Given the description of an element on the screen output the (x, y) to click on. 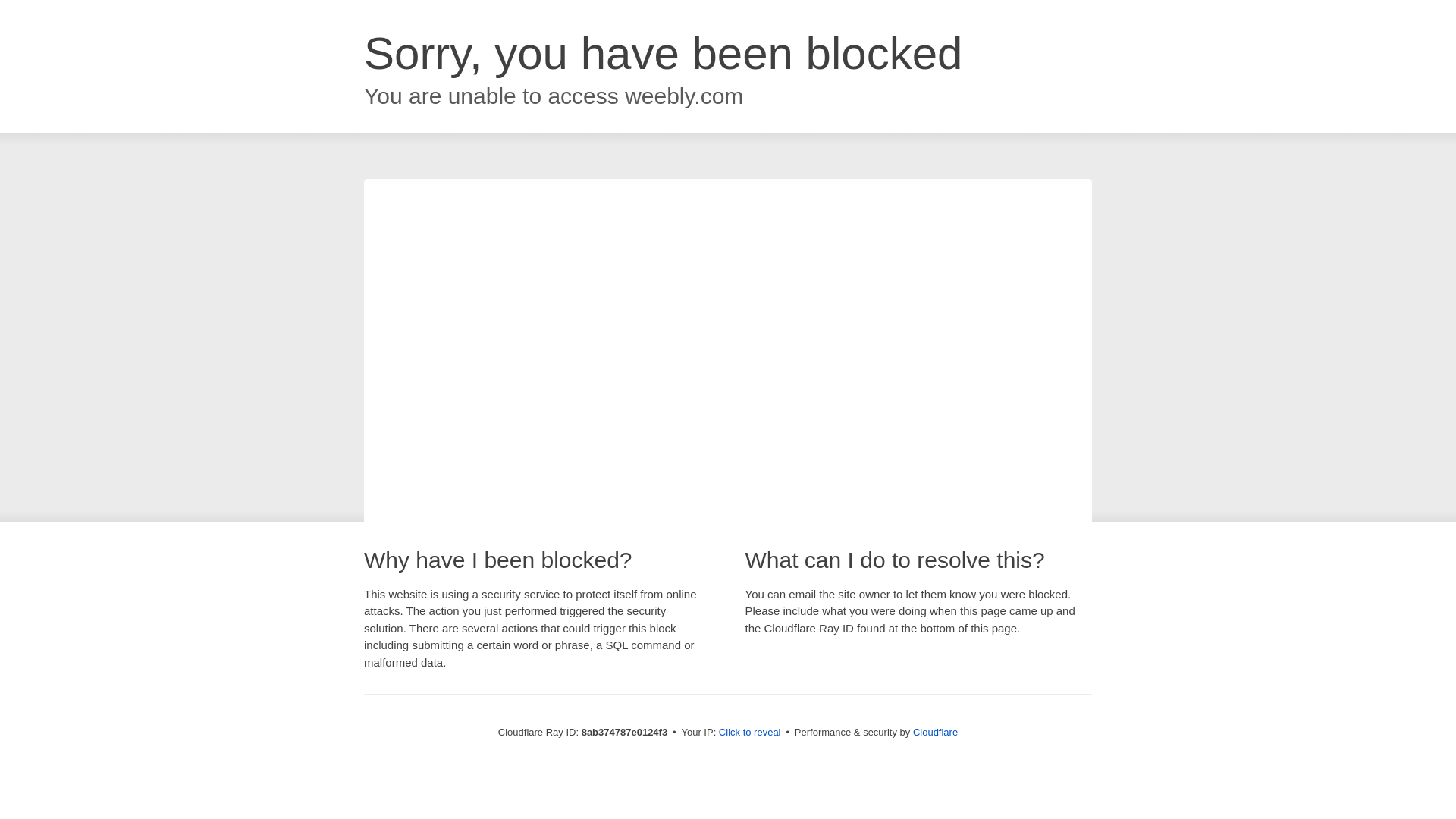
Cloudflare (935, 731)
Click to reveal (749, 732)
